Given the description of an element on the screen output the (x, y) to click on. 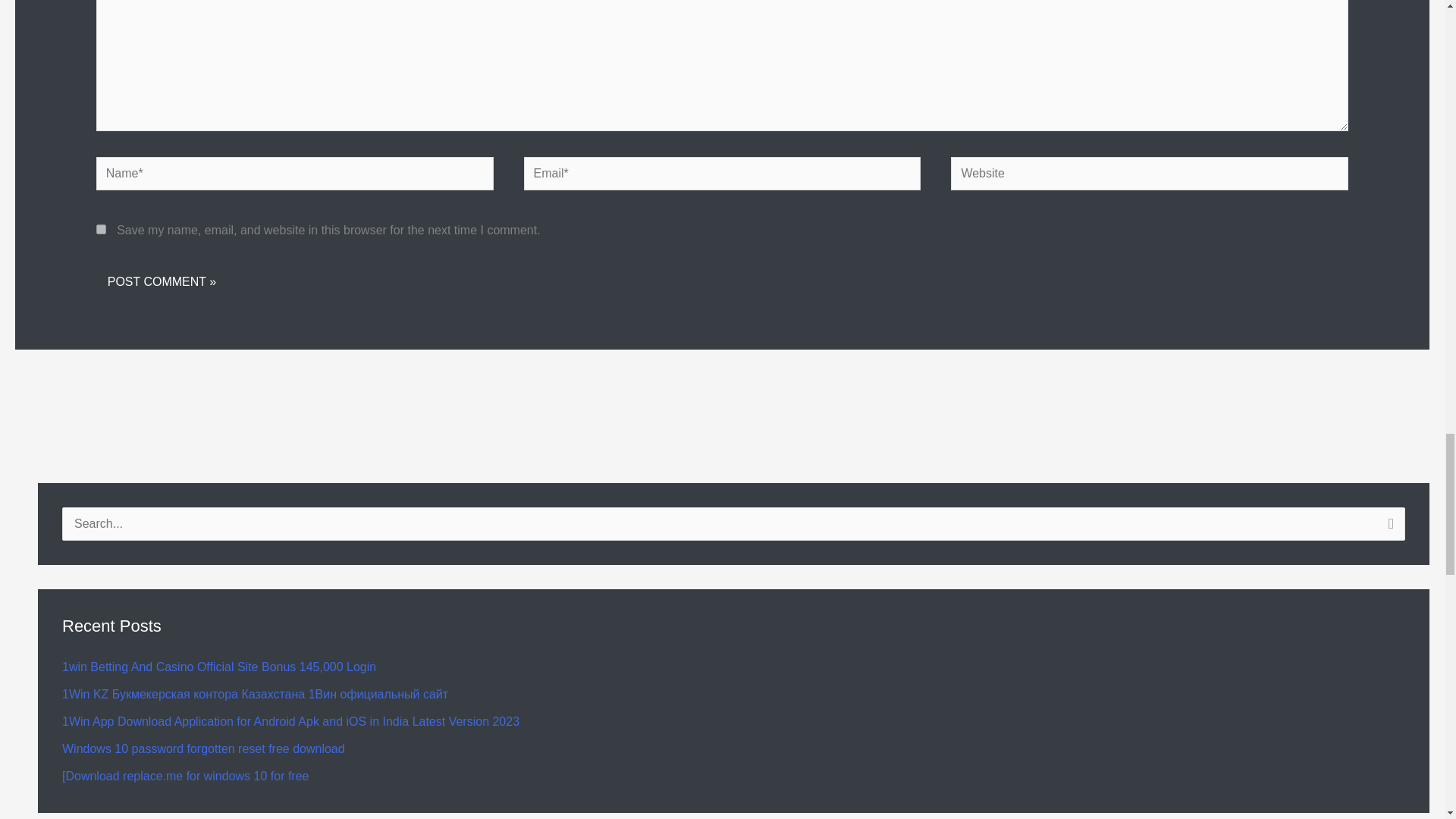
Windows 10 password forgotten reset free download (203, 748)
1win Betting And Casino Official Site Bonus 145,000 Login (218, 666)
yes (101, 229)
